Given the description of an element on the screen output the (x, y) to click on. 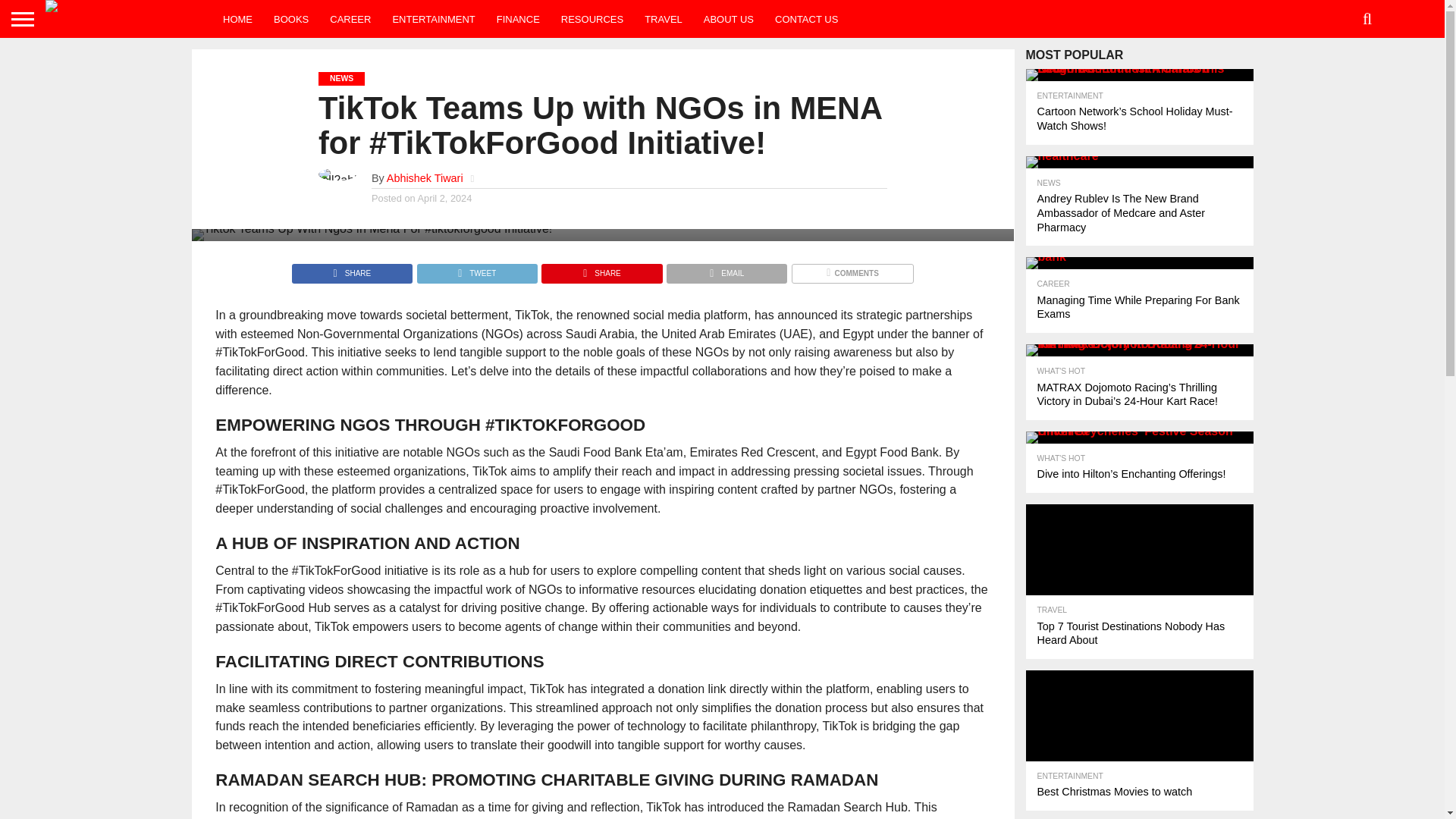
Posts by Abhishek Tiwari (425, 177)
HOME (237, 18)
TWEET (476, 269)
EMAIL (726, 269)
COMMENTS (852, 269)
Pin This Post (601, 269)
TRAVEL (663, 18)
ABOUT US (728, 18)
Abhishek Tiwari (425, 177)
RESOURCES (591, 18)
